Given the description of an element on the screen output the (x, y) to click on. 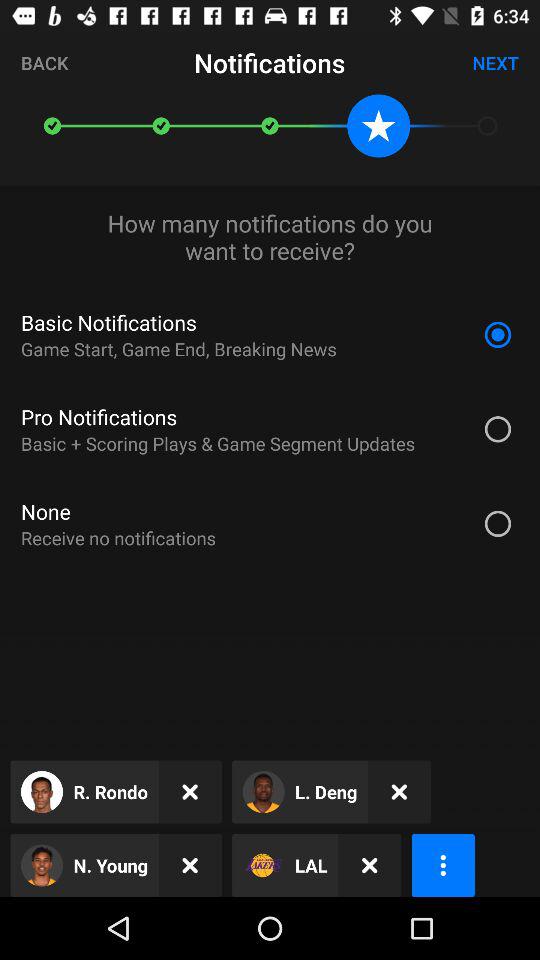
select the icon at the top right corner (495, 62)
